Given the description of an element on the screen output the (x, y) to click on. 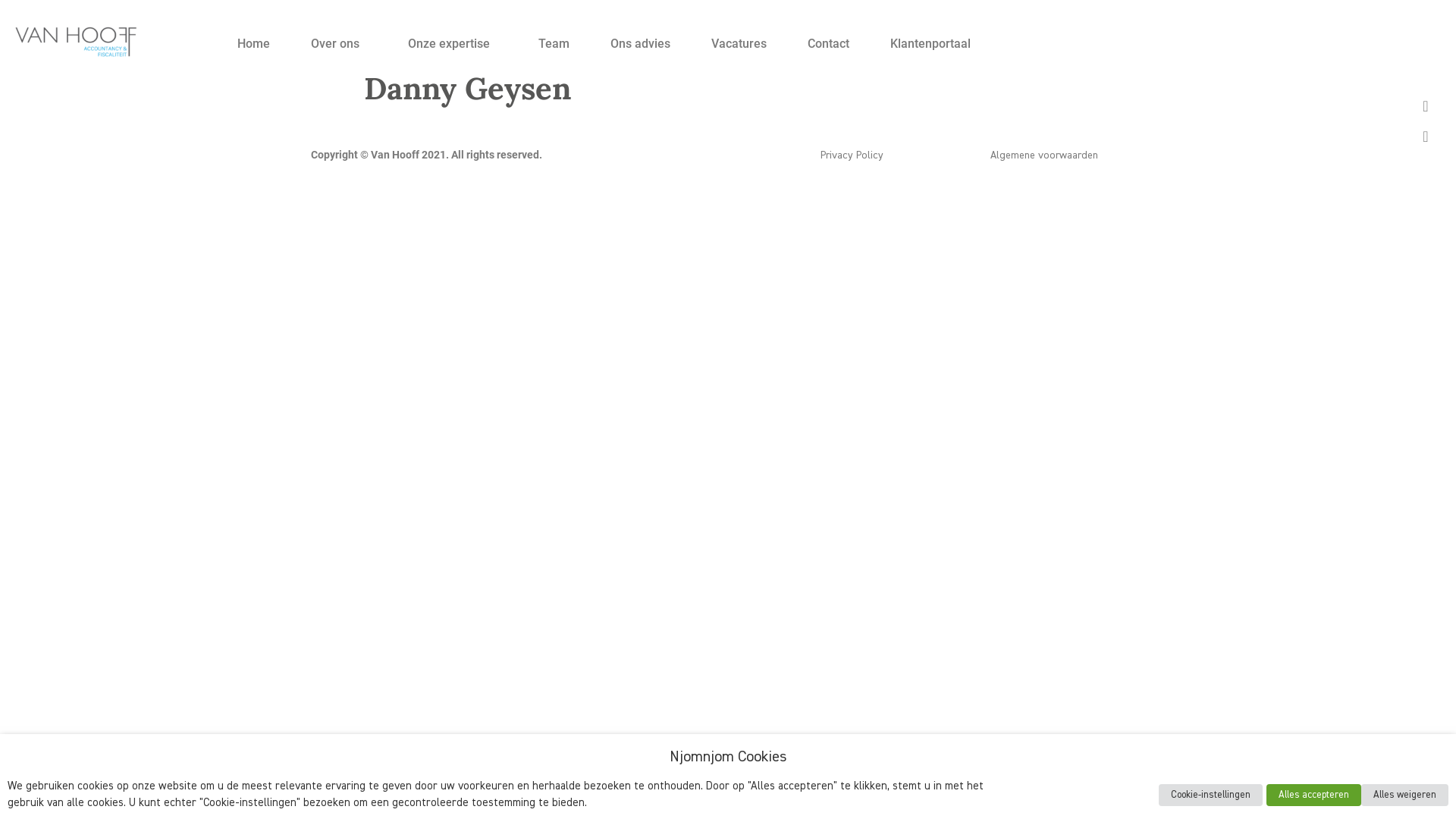
Ons advies Element type: text (639, 43)
Contact Element type: text (828, 43)
logo-web2 Element type: hover (75, 40)
Over ons Element type: text (338, 43)
Klantenportaal Element type: text (930, 43)
Privacy Policy Element type: text (851, 155)
Team Element type: text (553, 43)
Alles accepteren Element type: text (1313, 795)
Algemene voorwaarden Element type: text (1044, 155)
Cookie-instellingen Element type: text (1210, 795)
Home Element type: text (253, 43)
Onze expertise Element type: text (452, 43)
Alles weigeren Element type: text (1404, 795)
Vacatures Element type: text (738, 43)
